Given the description of an element on the screen output the (x, y) to click on. 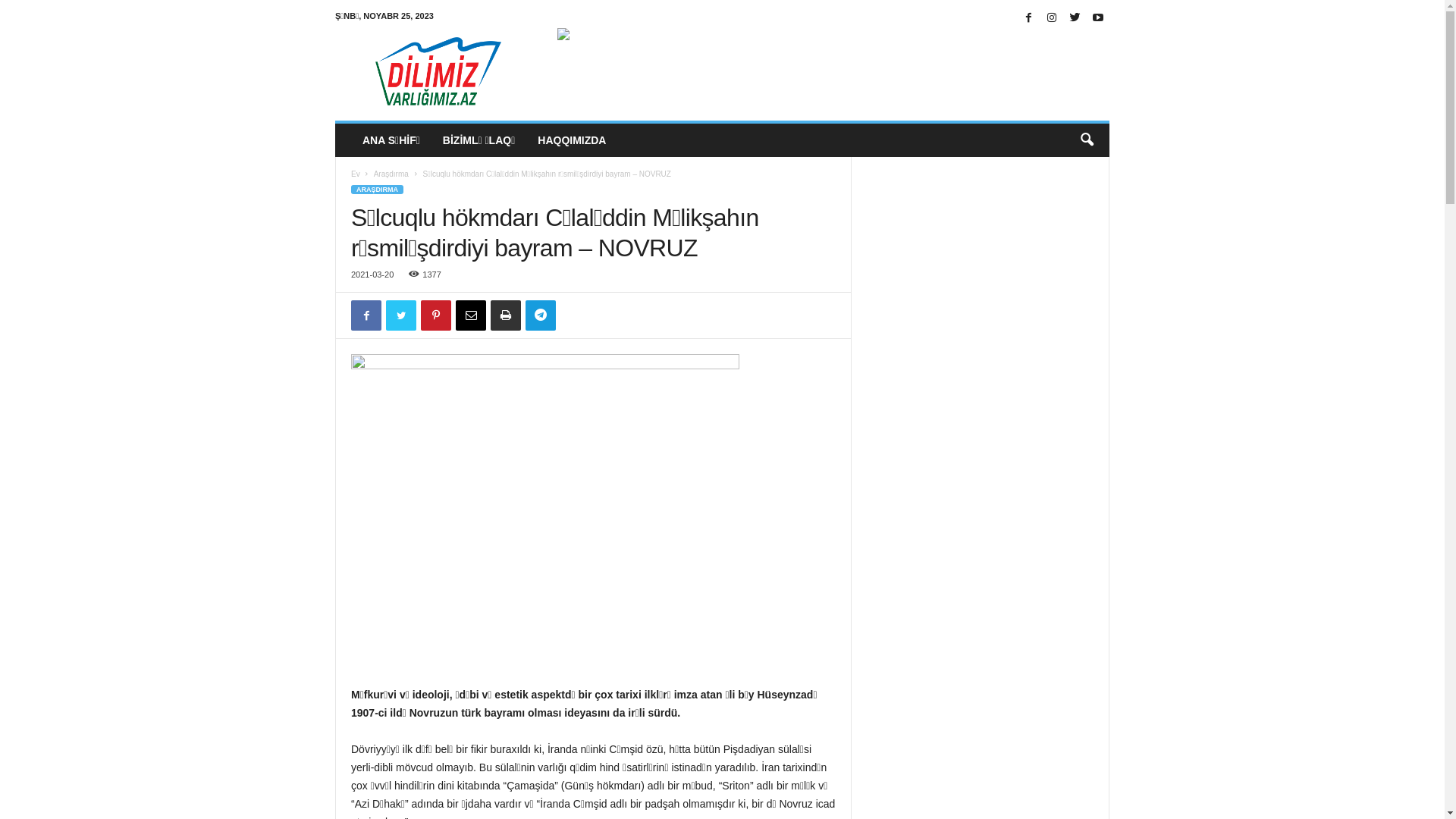
Instagram Element type: hover (1051, 18)
Twitter Element type: hover (1074, 18)
unnamed (1) Element type: hover (545, 511)
HAQQIMIZDA Element type: text (571, 139)
Youtube Element type: hover (1097, 18)
Facebook Element type: hover (1028, 18)
Ev Element type: text (355, 173)
